Given the description of an element on the screen output the (x, y) to click on. 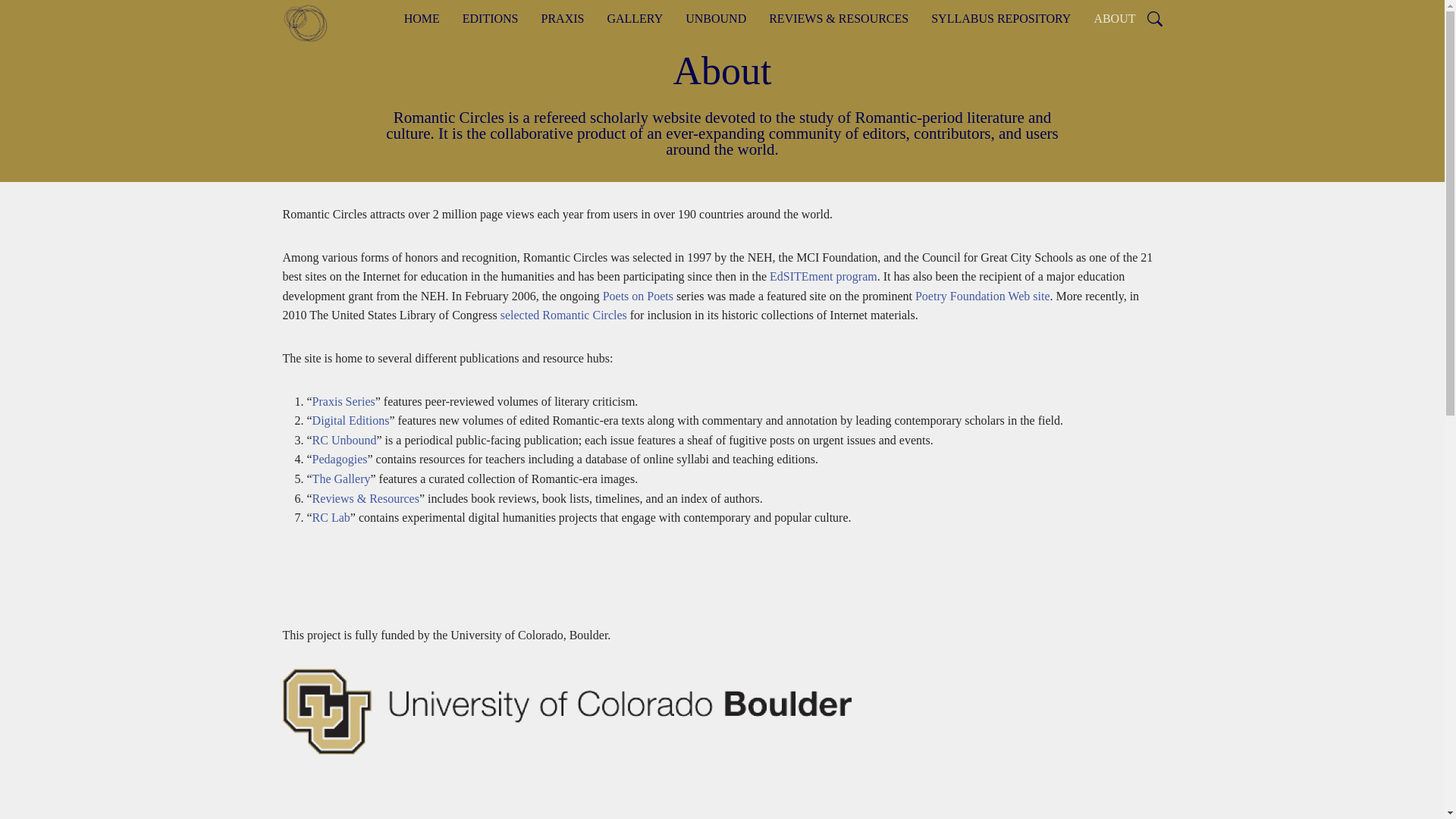
GALLERY (634, 18)
The Gallery (342, 478)
ABOUT (1114, 18)
Poetry Foundation Web site (982, 295)
HOME (422, 18)
EDITIONS (490, 18)
Poets on Poets (637, 295)
RC Unbound (345, 440)
Home (310, 22)
Pedagogies (340, 459)
